Given the description of an element on the screen output the (x, y) to click on. 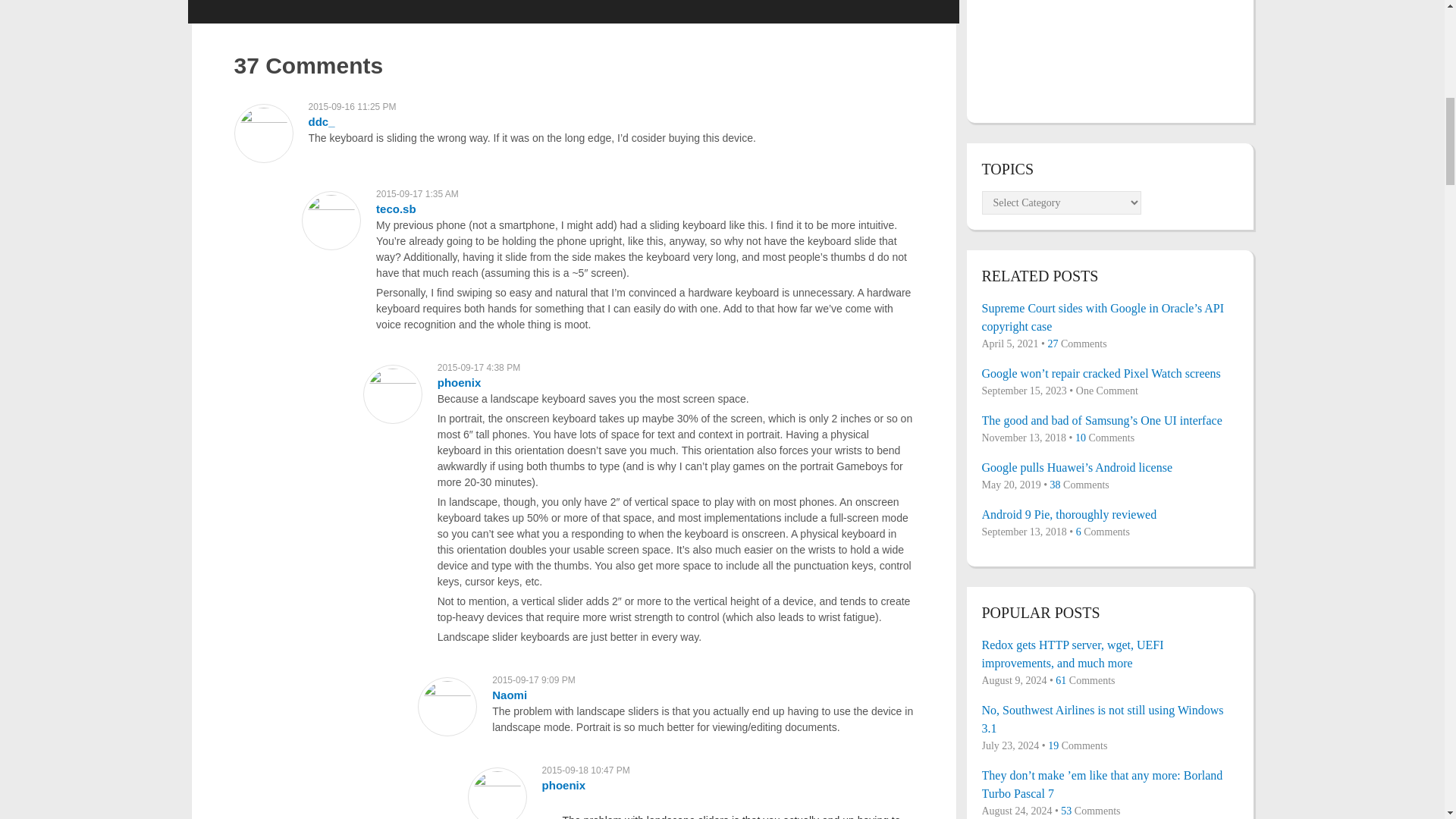
teco.sb (395, 208)
phoenix (563, 784)
Naomi (509, 694)
phoenix (459, 382)
